Given the description of an element on the screen output the (x, y) to click on. 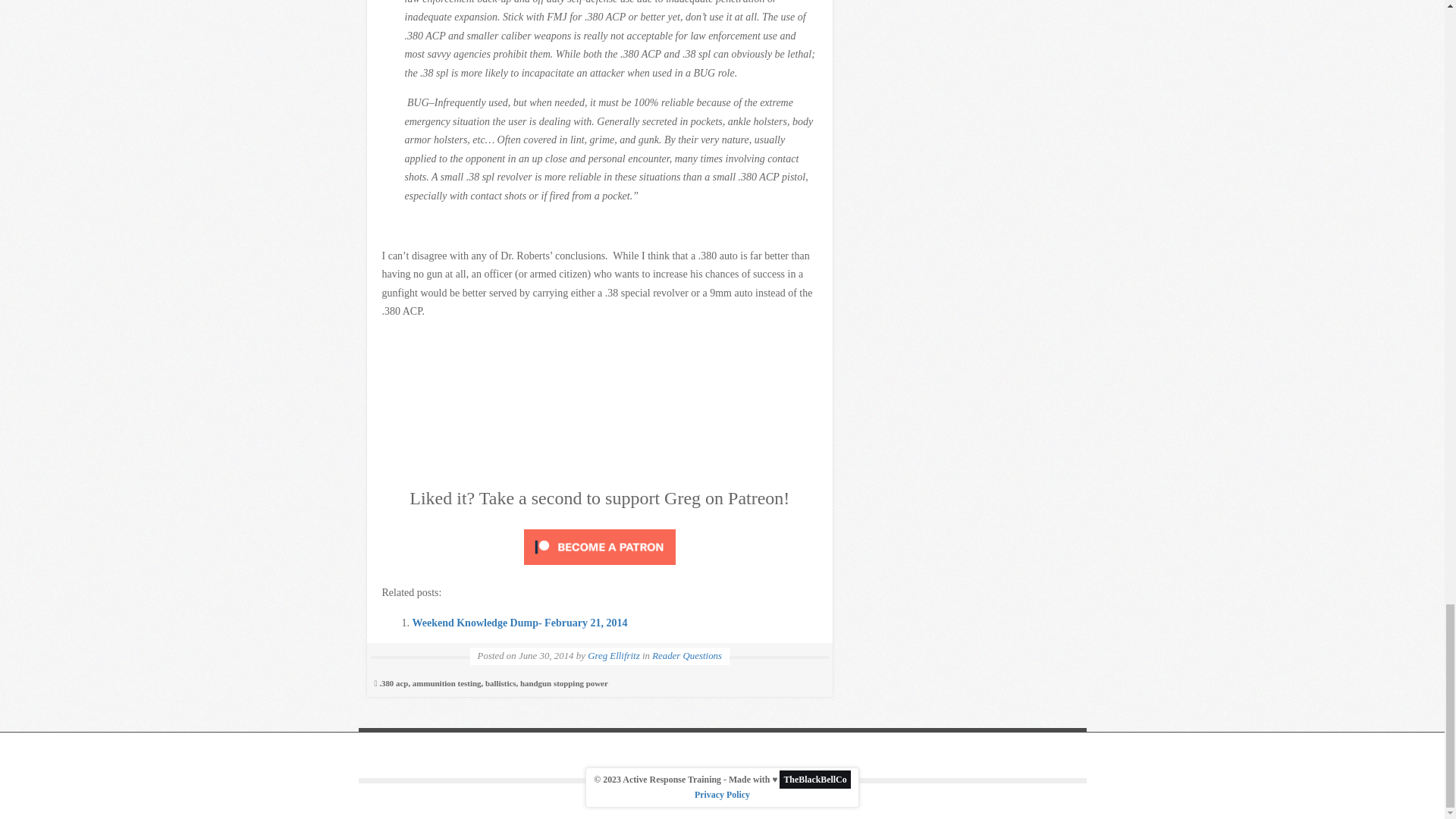
handgun stopping power (563, 682)
ballistics (500, 682)
Weekend Knowledge Dump- February 21, 2014 (519, 622)
ammunition testing (446, 682)
Reader Questions (687, 655)
Greg Ellifritz (614, 655)
Weekend Knowledge Dump- February 21, 2014 (519, 622)
.380 acp (392, 682)
View all posts by Greg Ellifritz (614, 655)
